Given the description of an element on the screen output the (x, y) to click on. 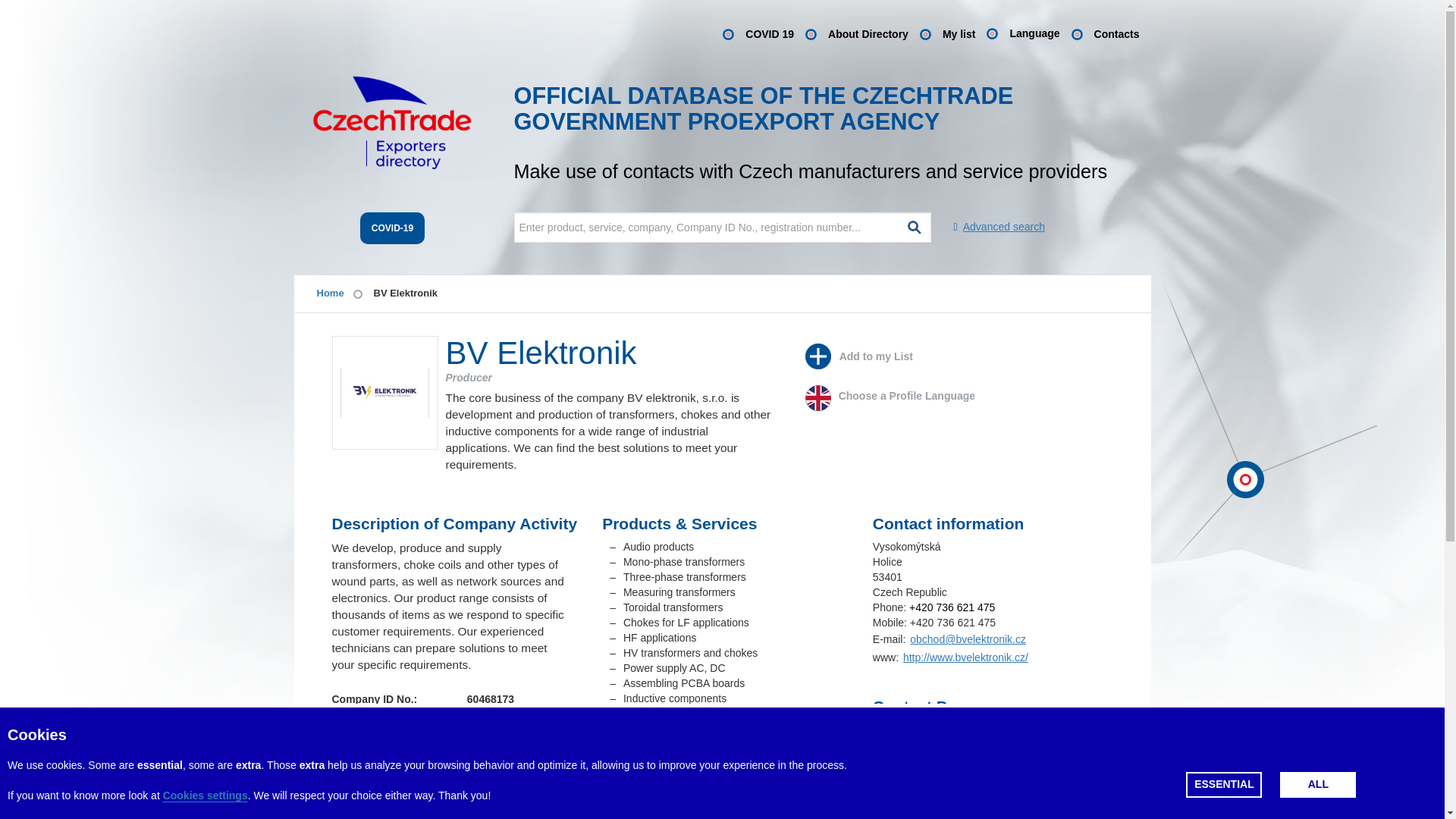
All (1317, 784)
COVID 19 (763, 34)
My list (953, 34)
Add to my List (858, 356)
Language (1028, 34)
Essential (1224, 784)
Cookies settings (205, 795)
Contacts (1111, 34)
kolaz.jpg (786, 796)
Geographical Interests (455, 814)
Choose a Profile Language (895, 397)
Advanced search (1003, 226)
COVID-19 (392, 228)
About Directory (862, 34)
Home (330, 292)
